Given the description of an element on the screen output the (x, y) to click on. 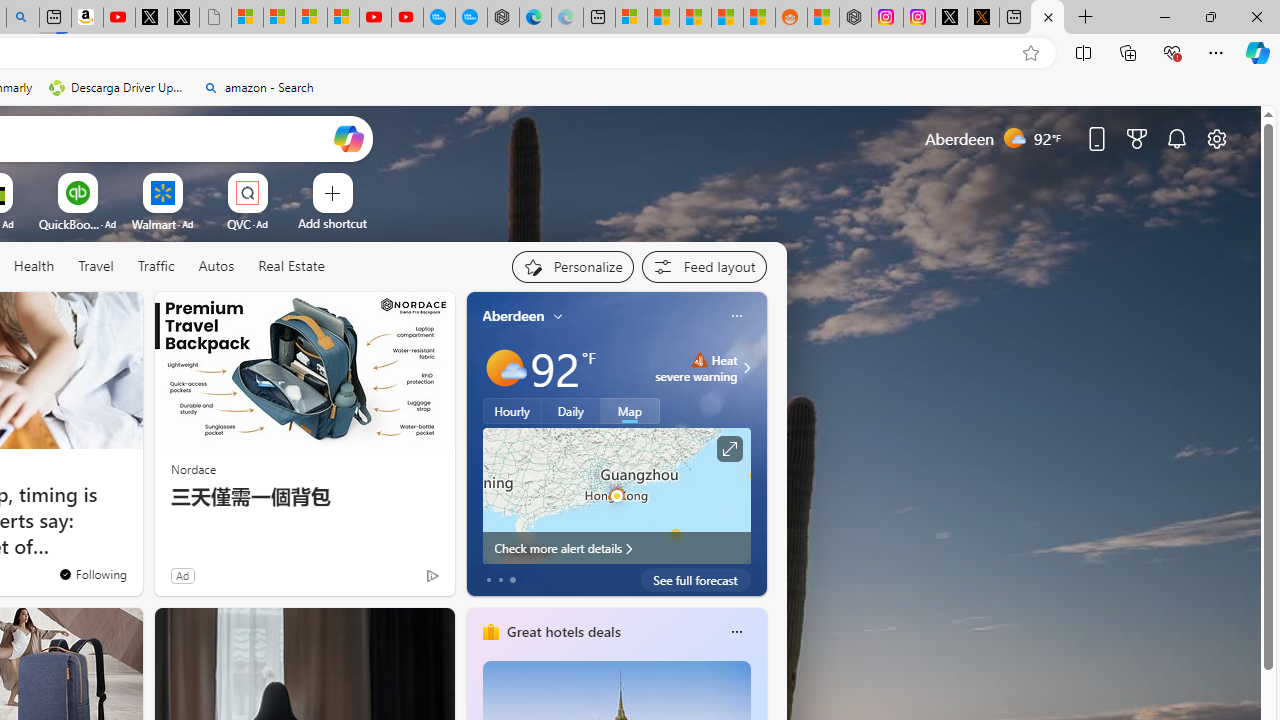
Day 1: Arriving in Yemen (surreal to be here) - YouTube (118, 17)
Real Estate (290, 267)
Untitled (215, 17)
Personalize your feed" (571, 266)
Class: icon-img (736, 632)
amazon - Search (258, 88)
tab-2 (511, 579)
YouTube Kids - An App Created for Kids to Explore Content (407, 17)
